Given the description of an element on the screen output the (x, y) to click on. 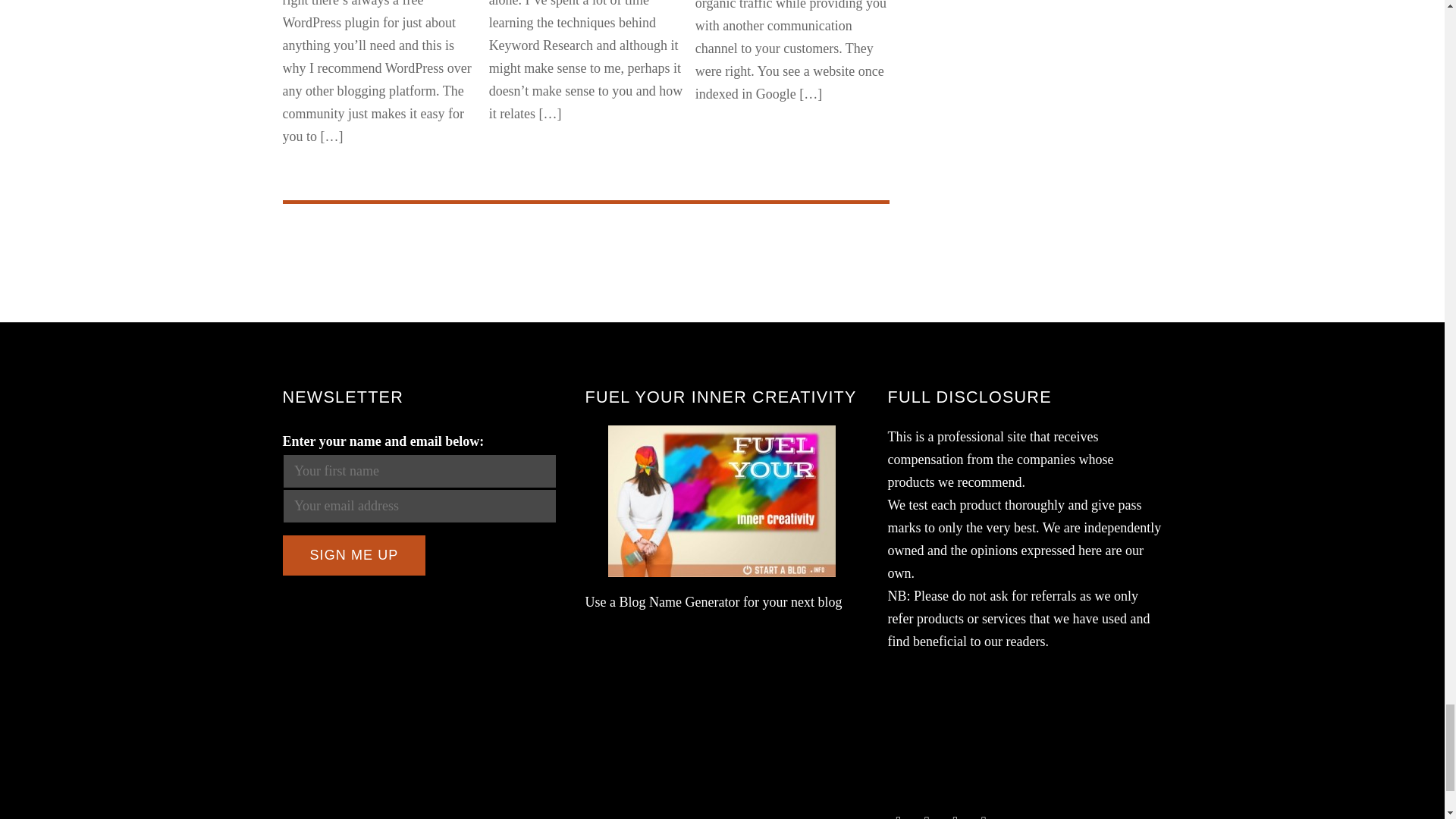
Sign me up (353, 555)
Creative Blog Name Generator (722, 501)
